Given the description of an element on the screen output the (x, y) to click on. 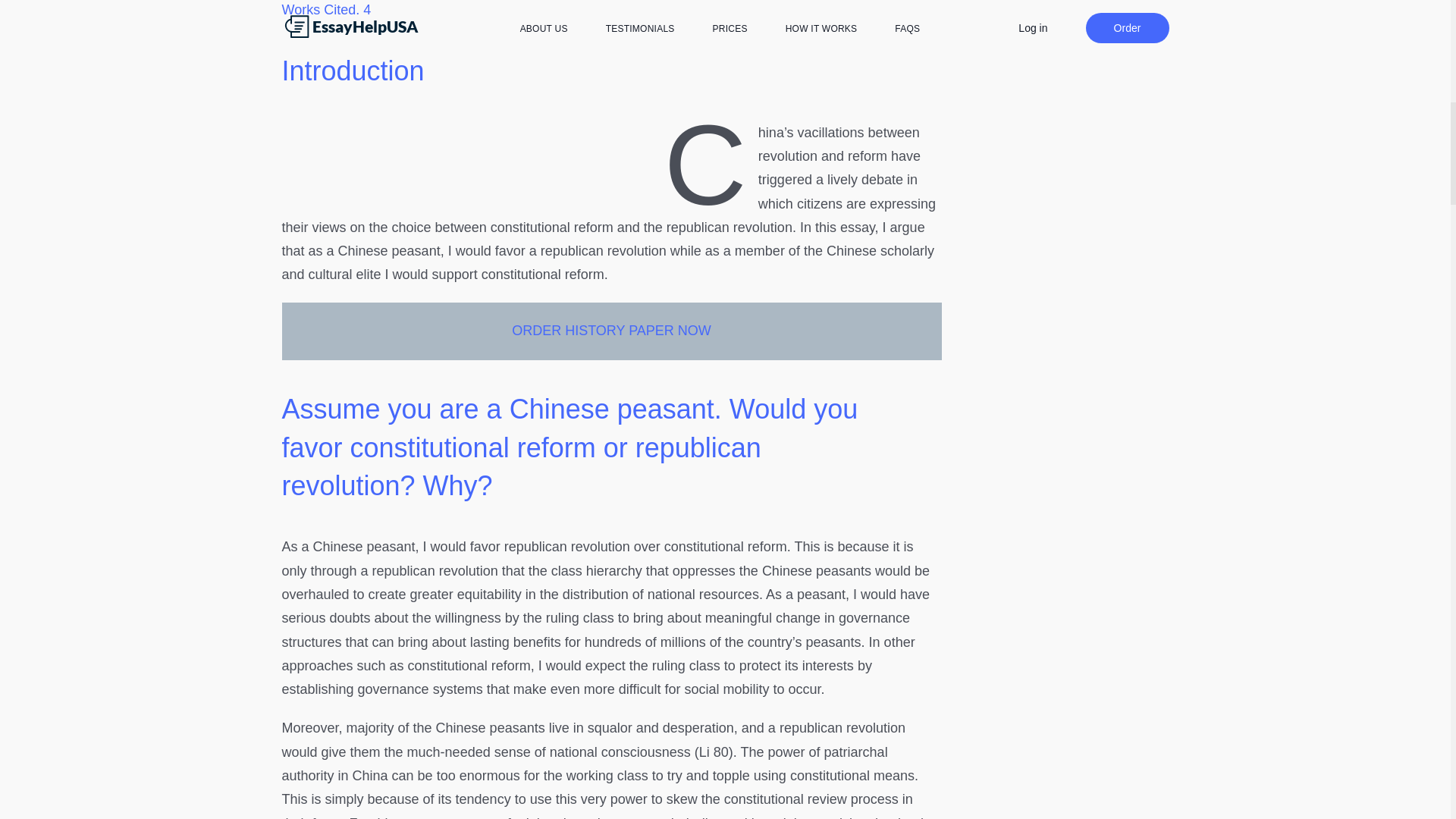
ORDER HISTORY PAPER NOW (611, 330)
Introduction (353, 70)
Works Cited. 4 (326, 9)
